Given the description of an element on the screen output the (x, y) to click on. 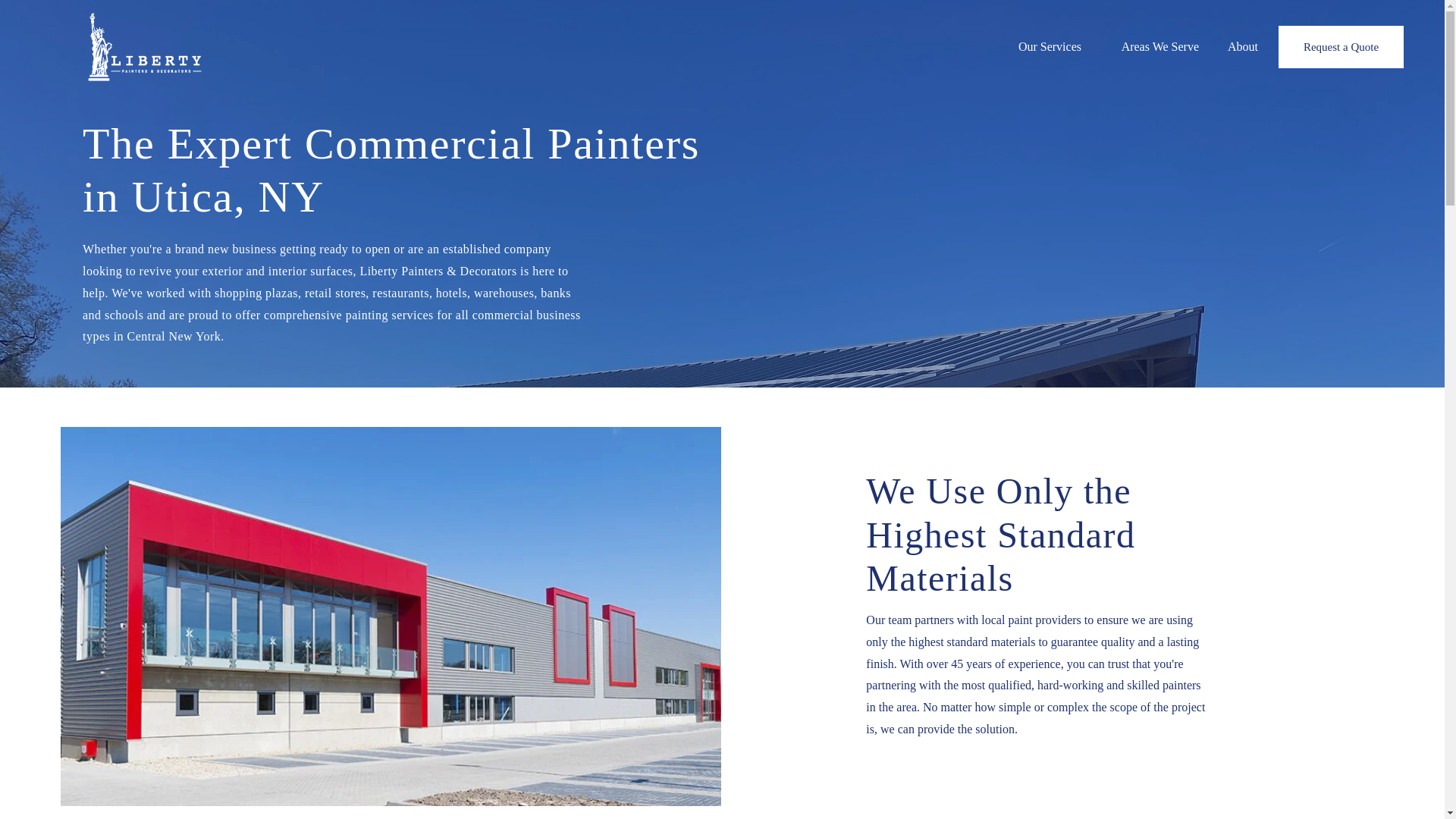
Areas We Serve (1151, 46)
About (1239, 46)
Request a Quote (1340, 46)
